Given the description of an element on the screen output the (x, y) to click on. 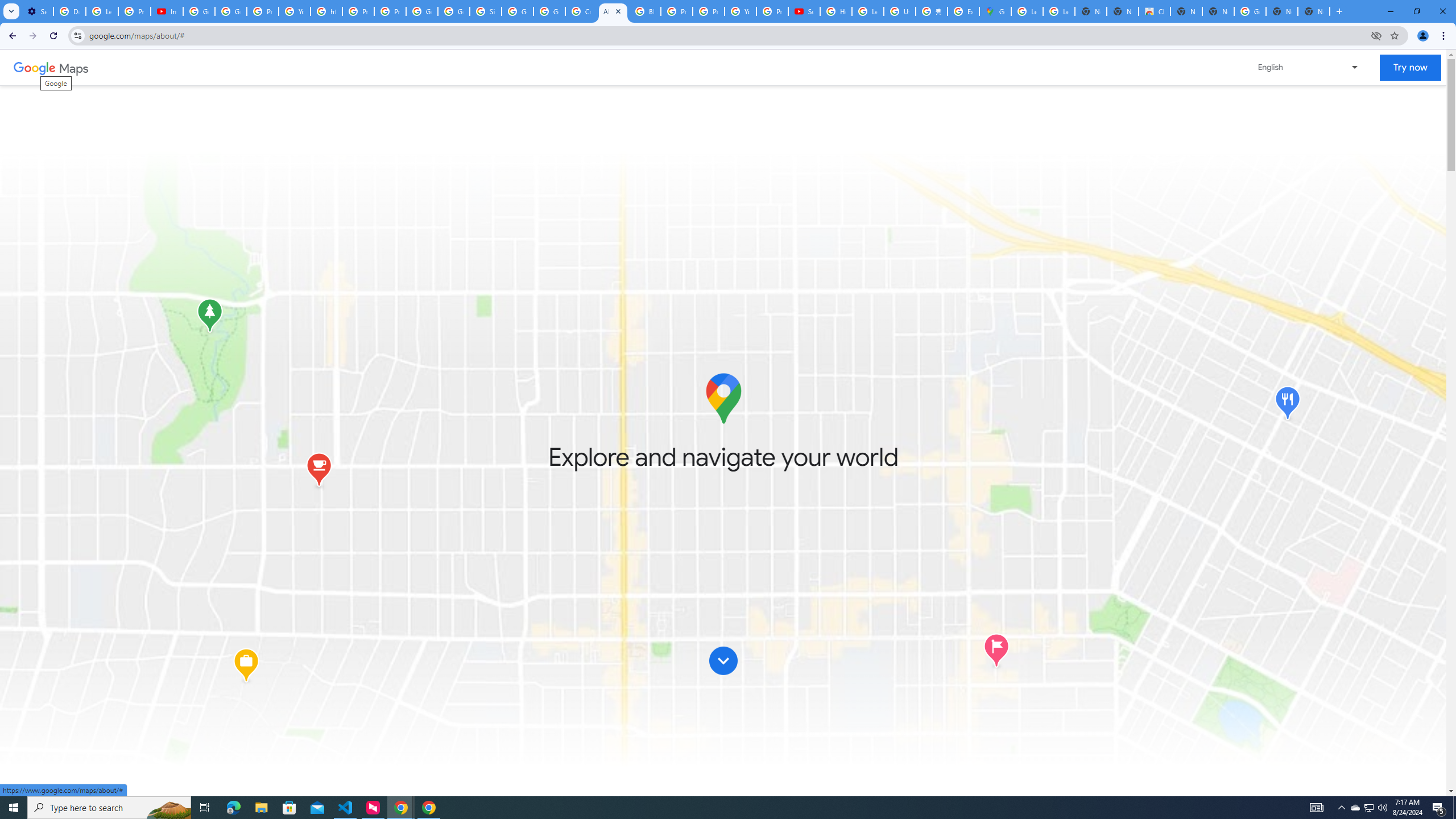
Google Maps (995, 11)
Chrome Web Store (1154, 11)
Subscriptions - YouTube (804, 11)
Change language or region (1308, 66)
https://scholar.google.com/ (326, 11)
